Given the description of an element on the screen output the (x, y) to click on. 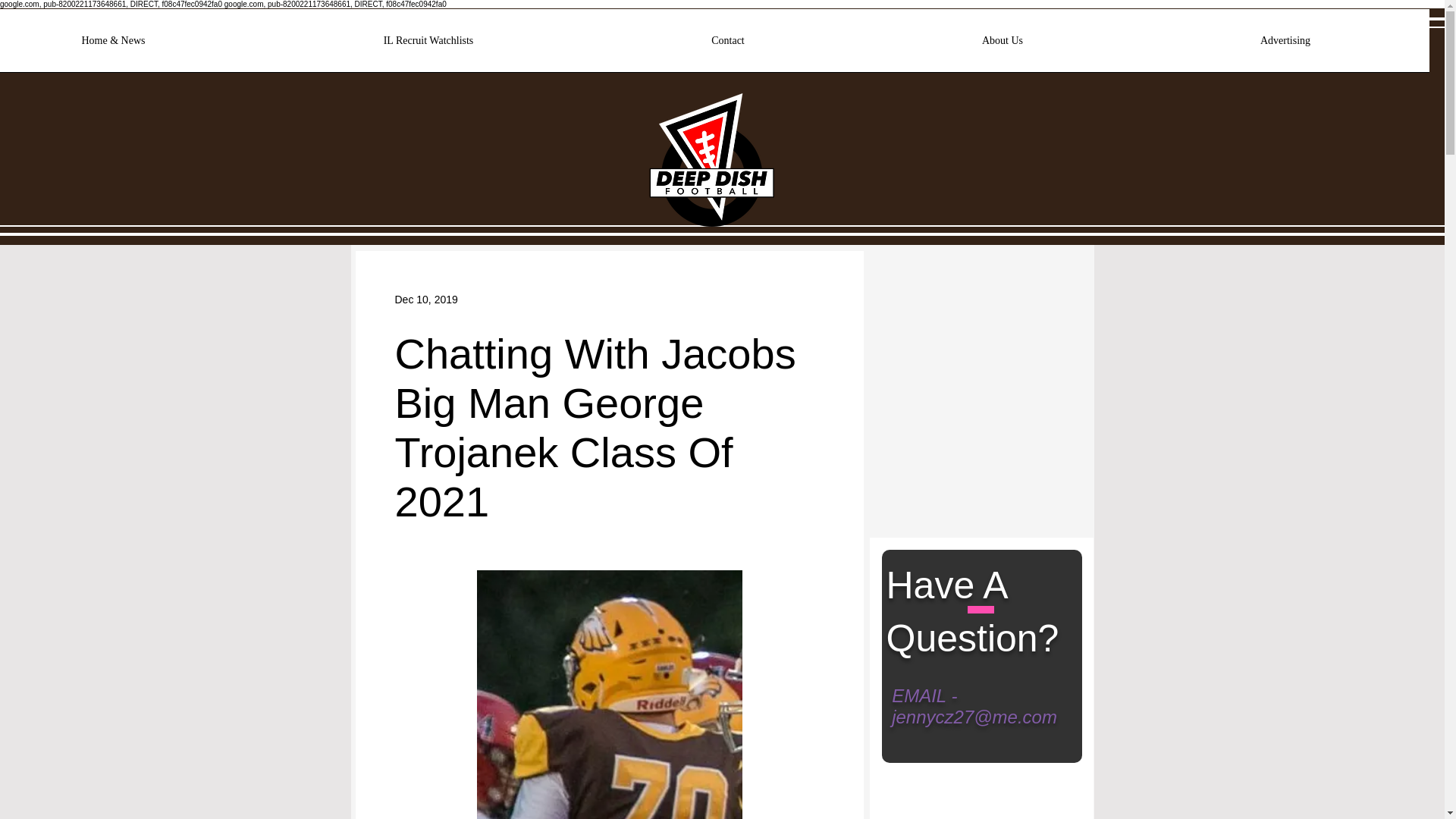
Contact (727, 45)
Dec 10, 2019 (425, 298)
IL Recruit Watchlists (427, 45)
Twitter Follow (932, 289)
Advertising (1285, 45)
About Us (1002, 45)
